Given the description of an element on the screen output the (x, y) to click on. 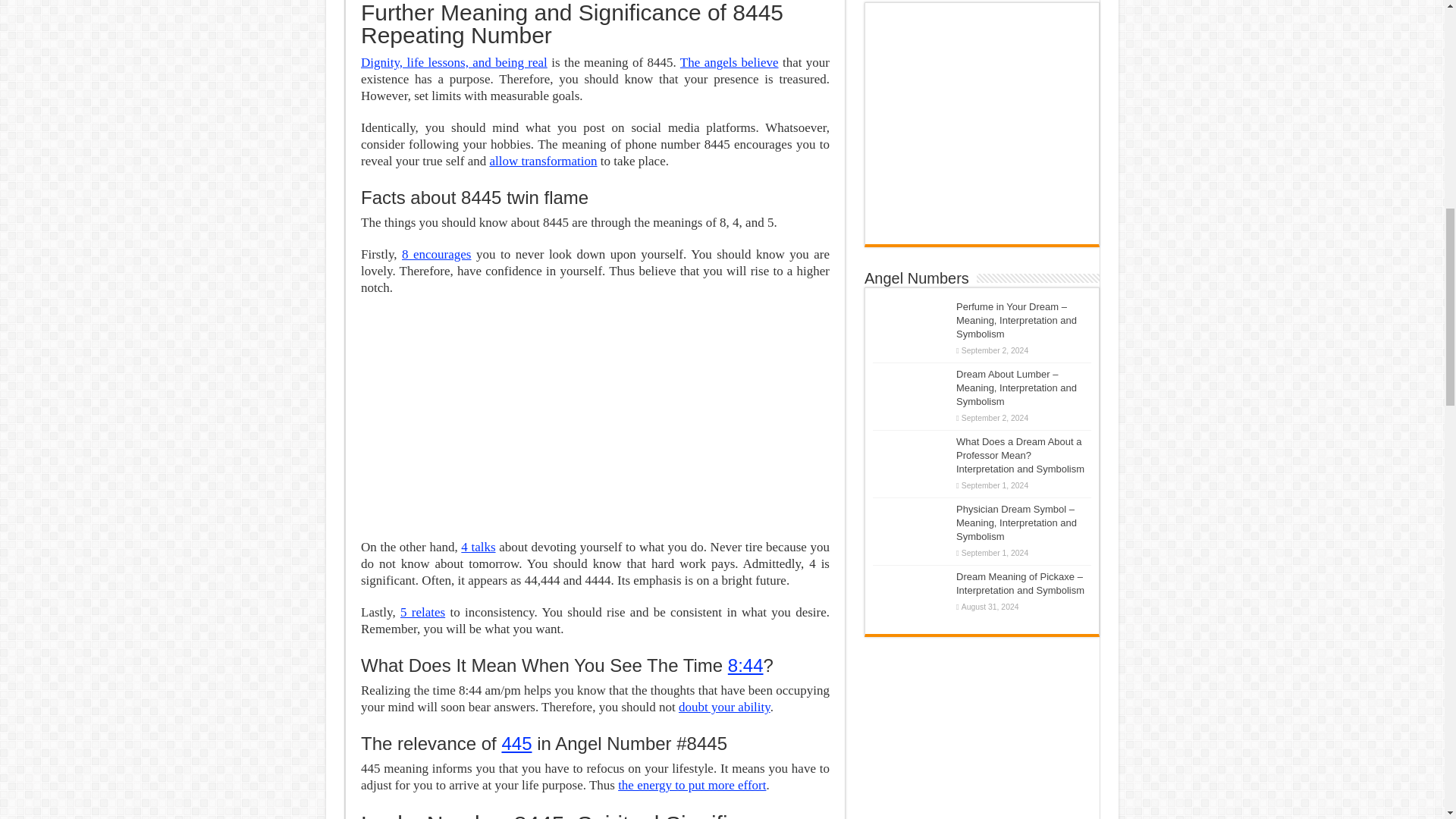
5 relates (422, 612)
Dignity, life lessons, and being real (454, 62)
The angels believe (728, 62)
allow transformation (542, 160)
the energy to put more effort (691, 785)
8:44 (745, 665)
doubt your ability (724, 707)
8 encourages (435, 254)
Advertisement (595, 418)
4 talks (478, 546)
